Given the description of an element on the screen output the (x, y) to click on. 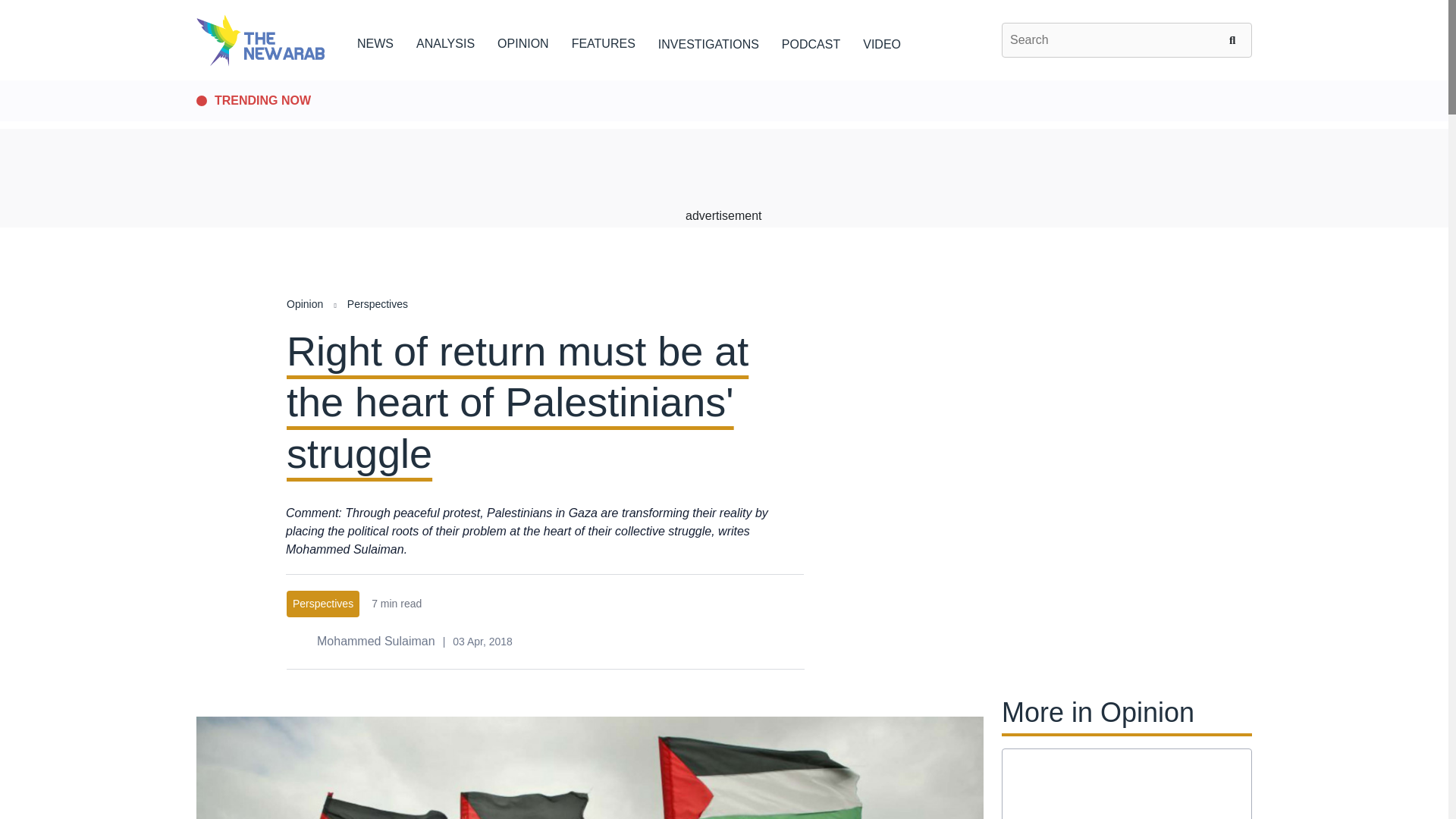
ANALYSIS (445, 41)
Skip to main content (724, 81)
OPINION (523, 41)
Search (1234, 39)
NEWS (375, 41)
